Given the description of an element on the screen output the (x, y) to click on. 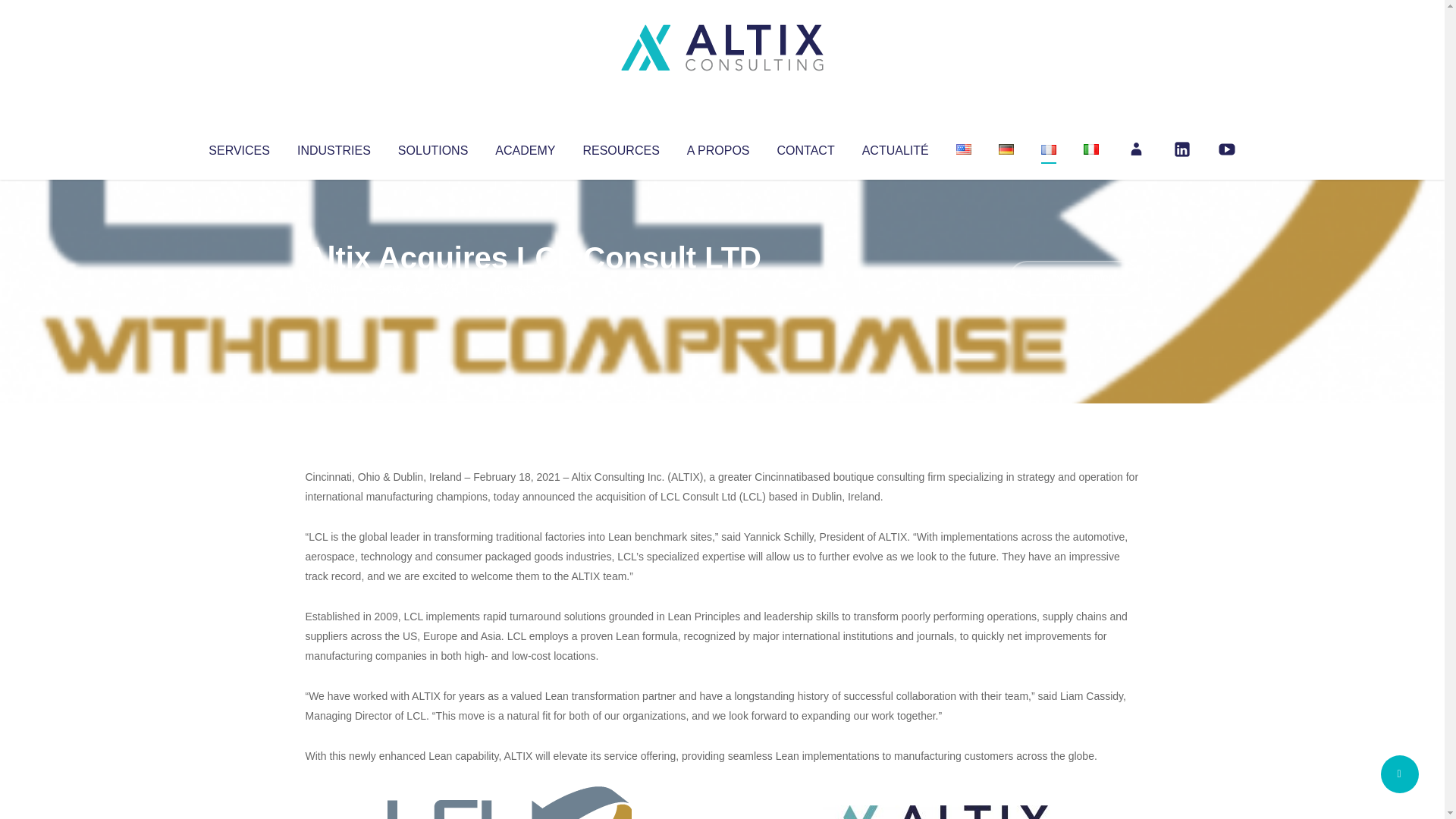
SOLUTIONS (432, 146)
Altix (333, 287)
Articles par Altix (333, 287)
RESOURCES (620, 146)
ACADEMY (524, 146)
No Comments (1073, 278)
Uncategorized (530, 287)
A PROPOS (718, 146)
SERVICES (238, 146)
INDUSTRIES (334, 146)
